Given the description of an element on the screen output the (x, y) to click on. 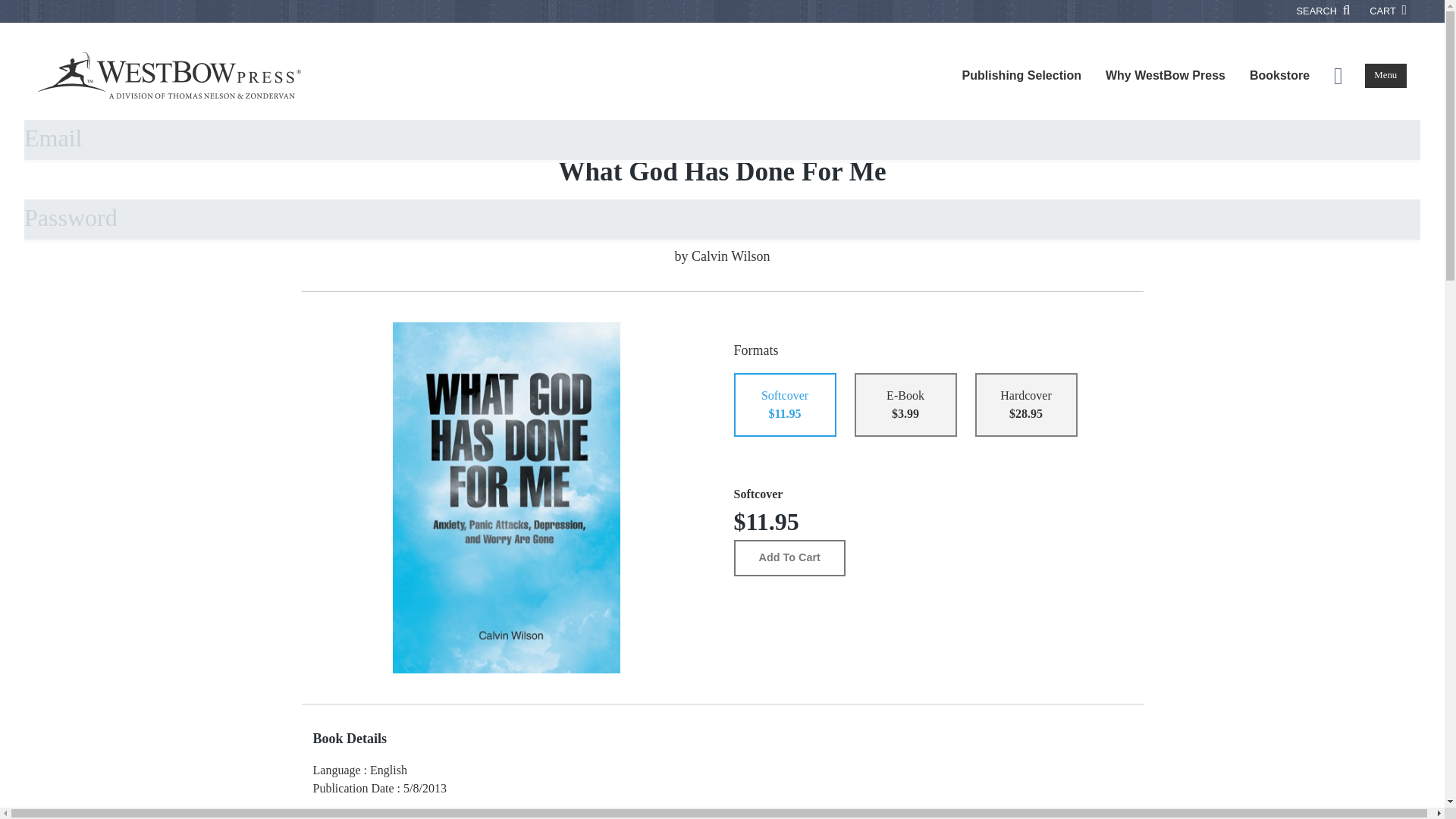
Why WestBow Press (1165, 75)
SEARCH (1324, 11)
Publishing Selection (1021, 75)
User Menu (1337, 75)
Add To Cart (789, 557)
Bookstore (1279, 75)
CART (1388, 11)
Menu (1385, 75)
